Given the description of an element on the screen output the (x, y) to click on. 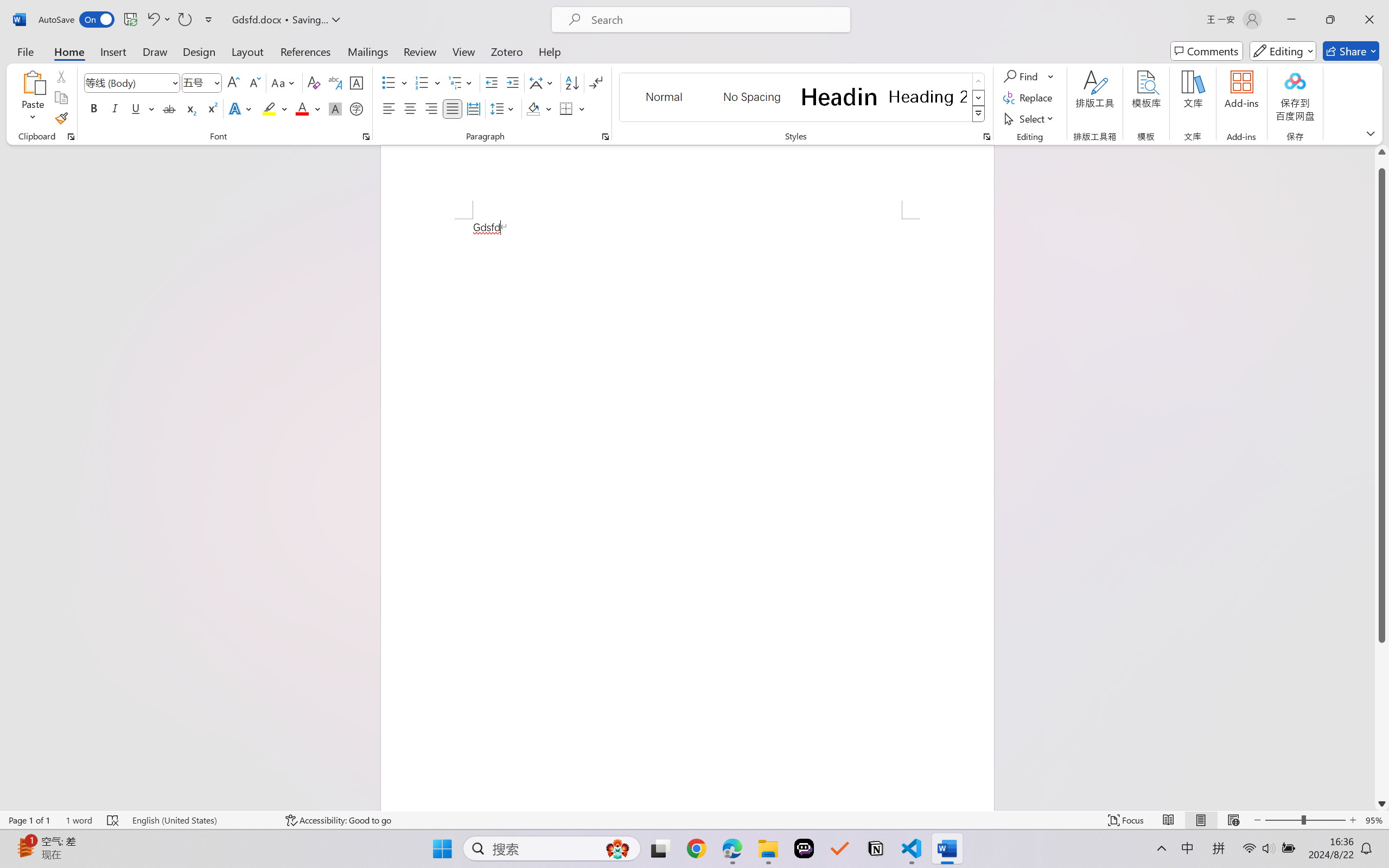
Text Highlight Color (274, 108)
Strikethrough (169, 108)
Line down (1382, 803)
Row Down (978, 97)
Zoom 95% (1374, 819)
Office Clipboard... (70, 136)
Class: MsoCommandBar (694, 819)
Undo Style (152, 19)
